Given the description of an element on the screen output the (x, y) to click on. 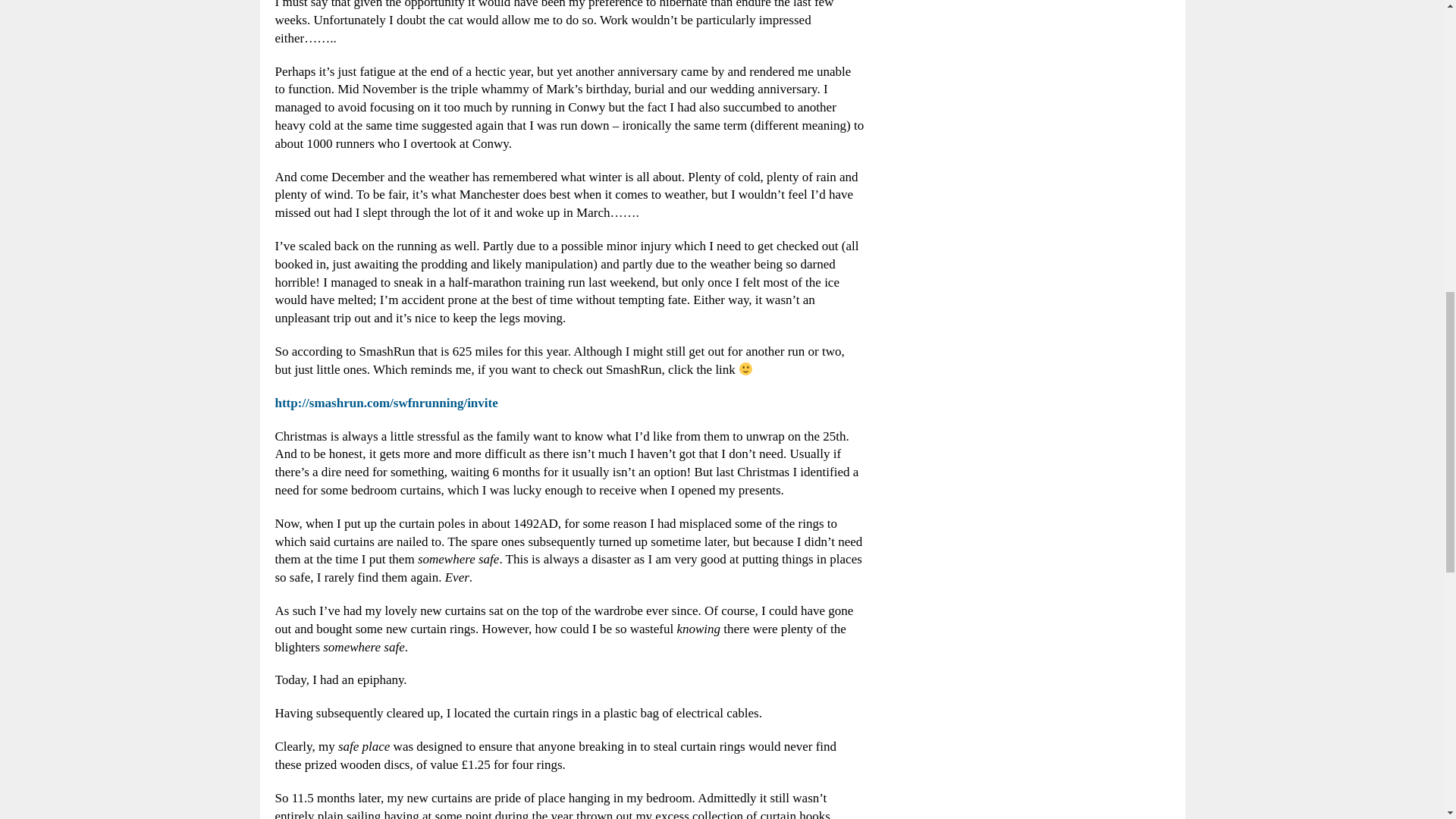
Join Smashrun! (386, 402)
